Given the description of an element on the screen output the (x, y) to click on. 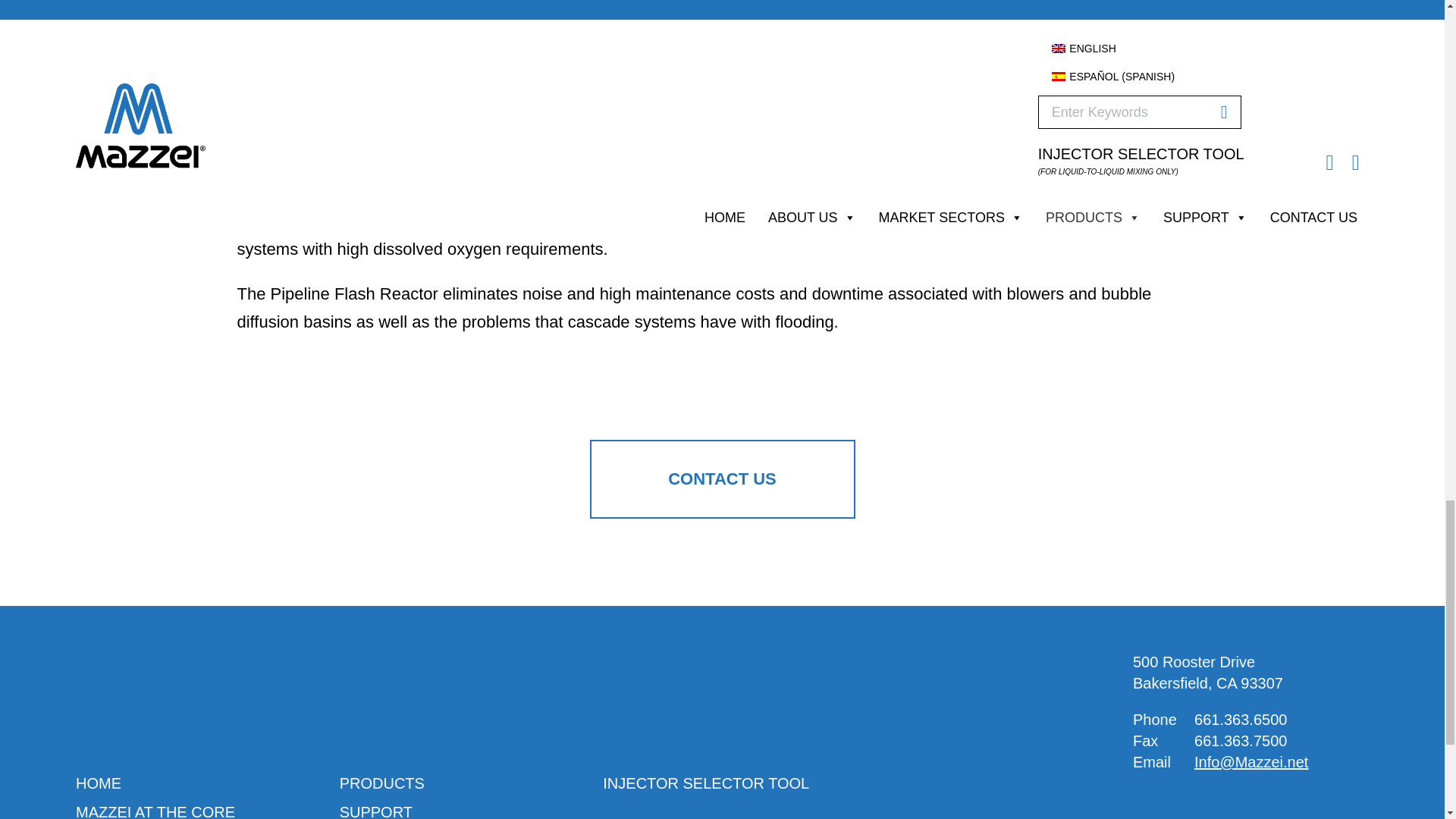
Contact Us (722, 478)
